Given the description of an element on the screen output the (x, y) to click on. 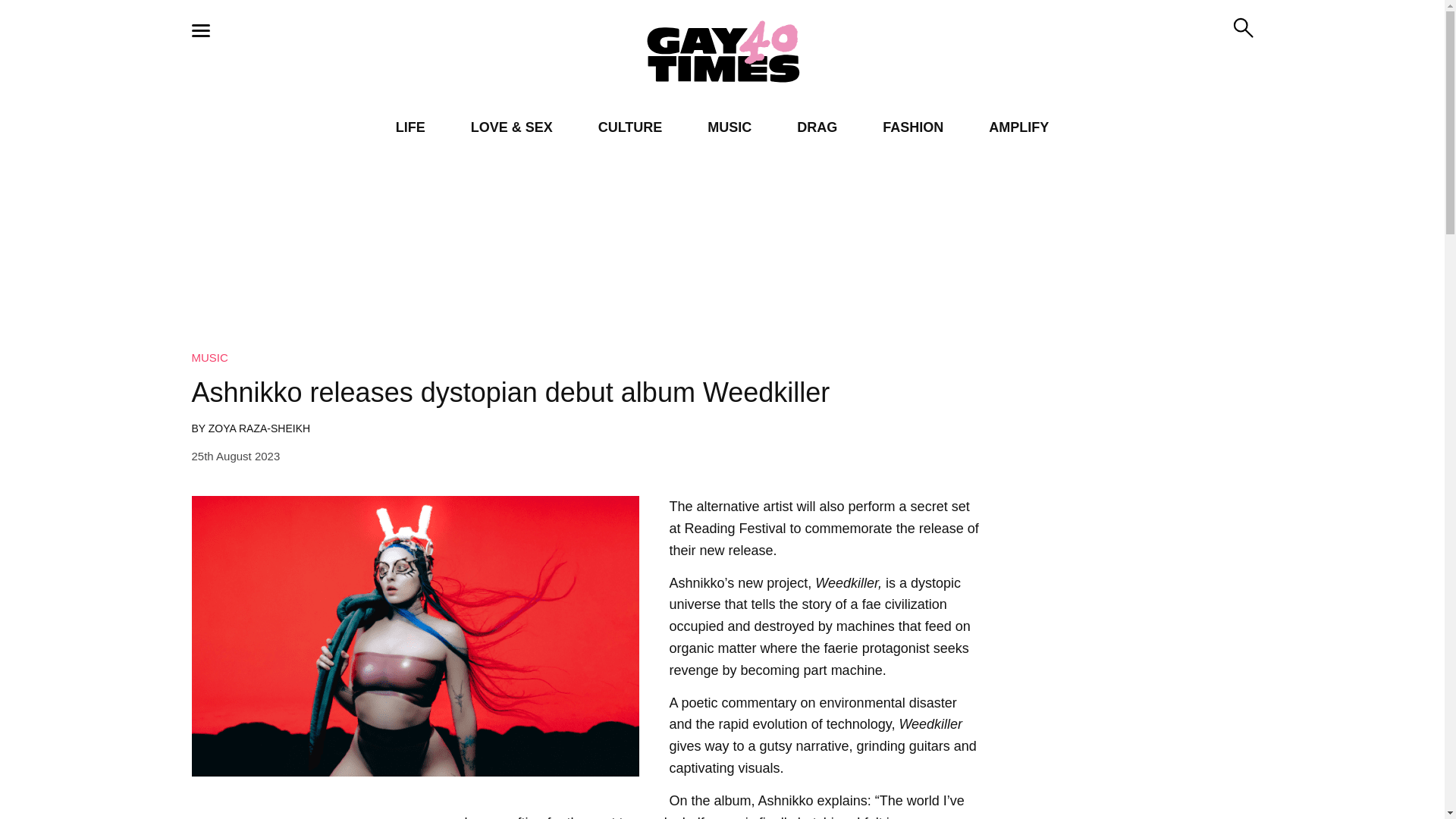
LIFE (410, 127)
ZOYA RAZA-SHEIKH (259, 428)
CULTURE (630, 127)
FASHION (912, 127)
DRAG (816, 127)
AMPLIFY (1018, 127)
MUSIC (729, 127)
MUSIC (208, 357)
